Given the description of an element on the screen output the (x, y) to click on. 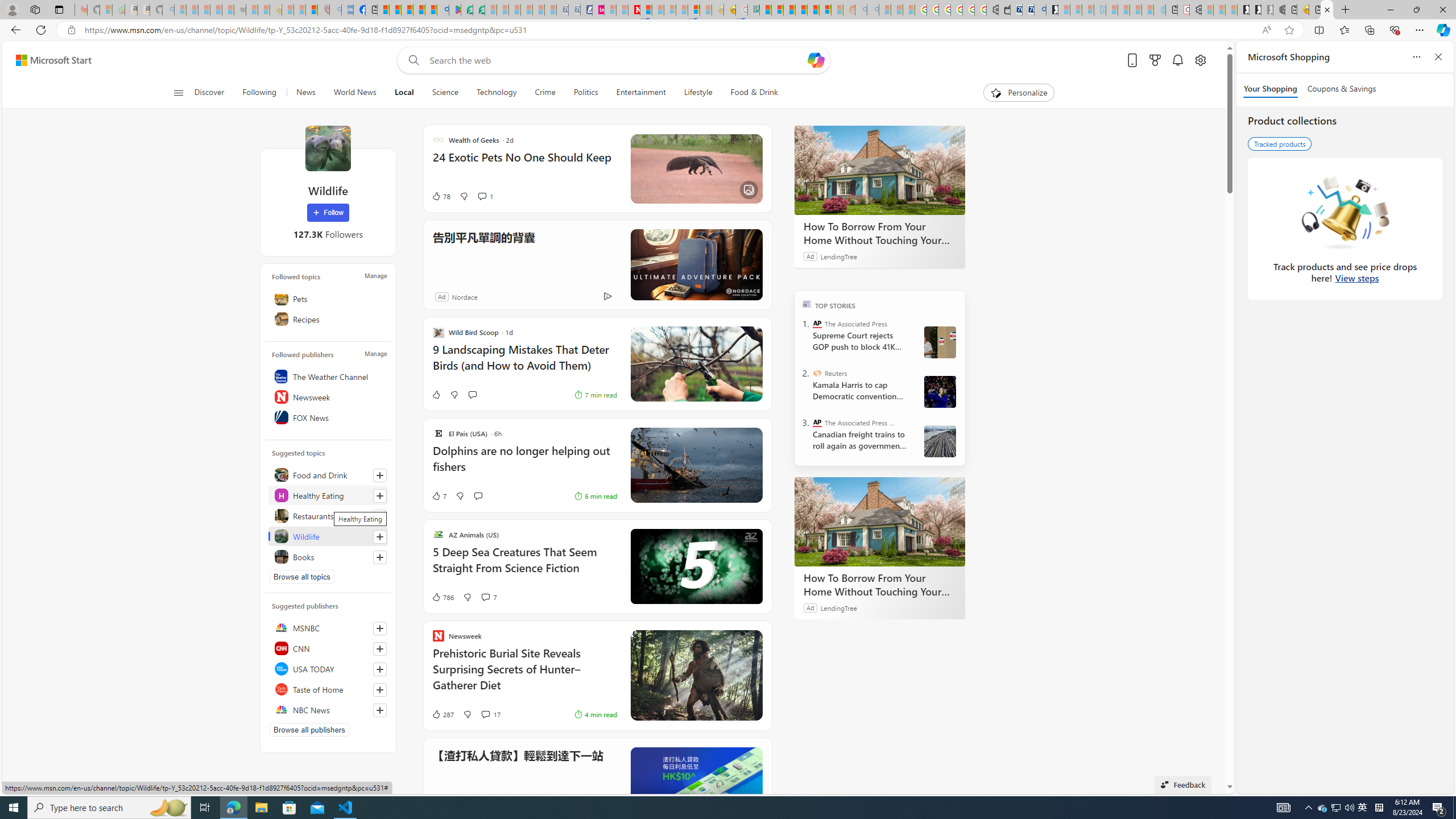
7 Like (438, 495)
Taste of Home (327, 688)
